Given the description of an element on the screen output the (x, y) to click on. 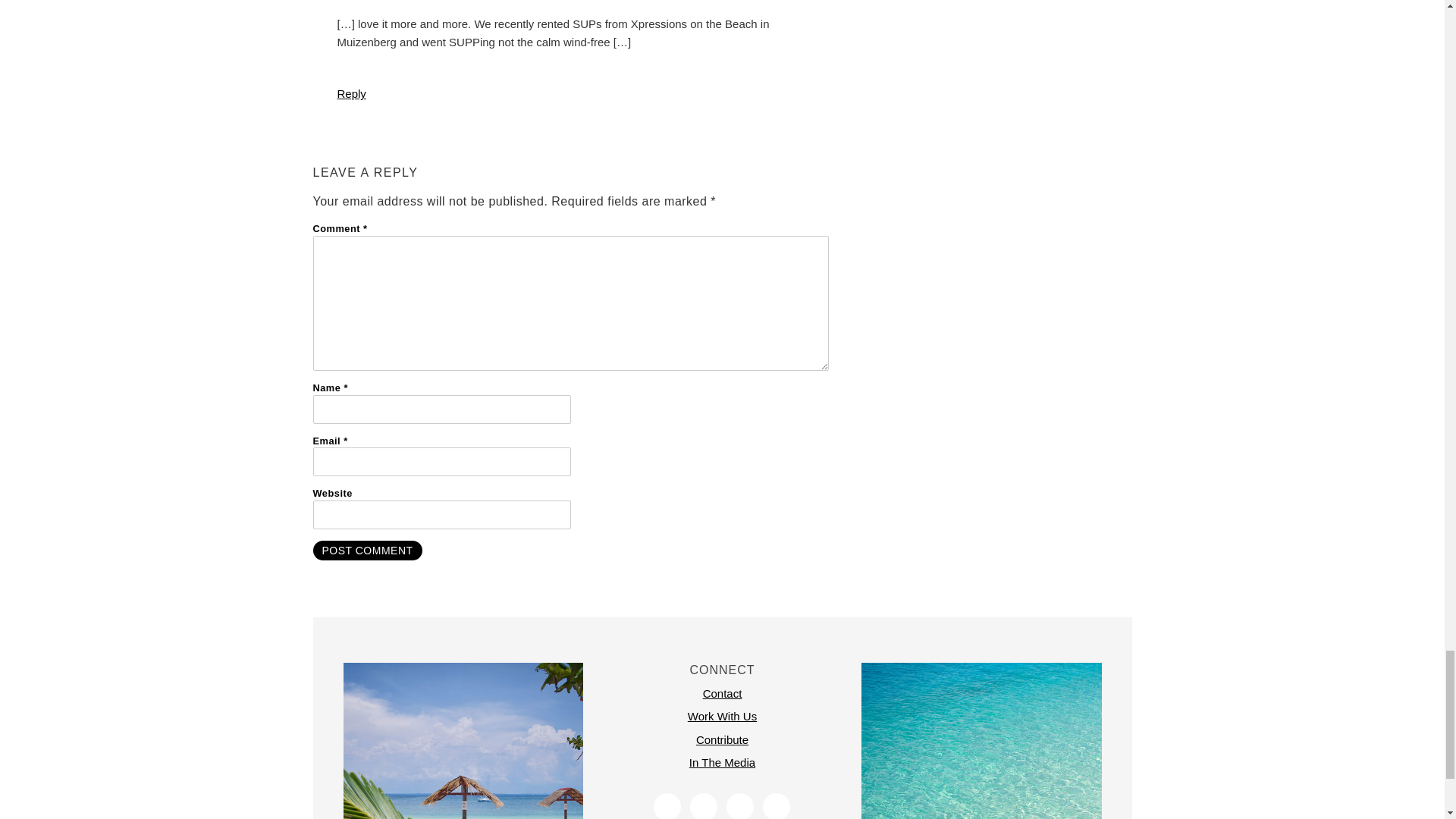
Post Comment (367, 550)
